Given the description of an element on the screen output the (x, y) to click on. 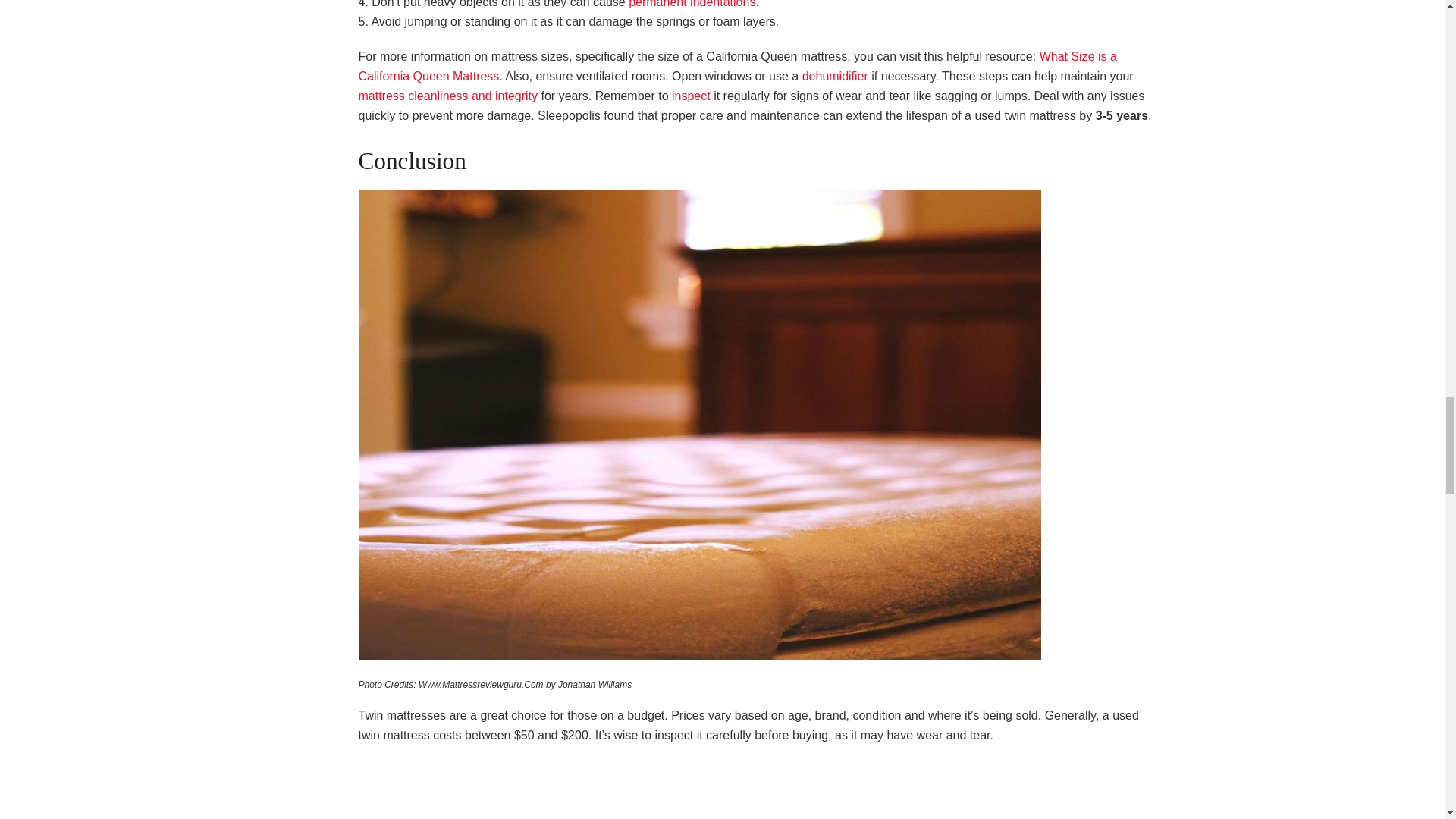
inspect (690, 95)
dehumidifier (834, 75)
mattress cleanliness and integrity (447, 95)
permanent indentations (691, 4)
What Size is a California Queen Mattress (737, 65)
